Given the description of an element on the screen output the (x, y) to click on. 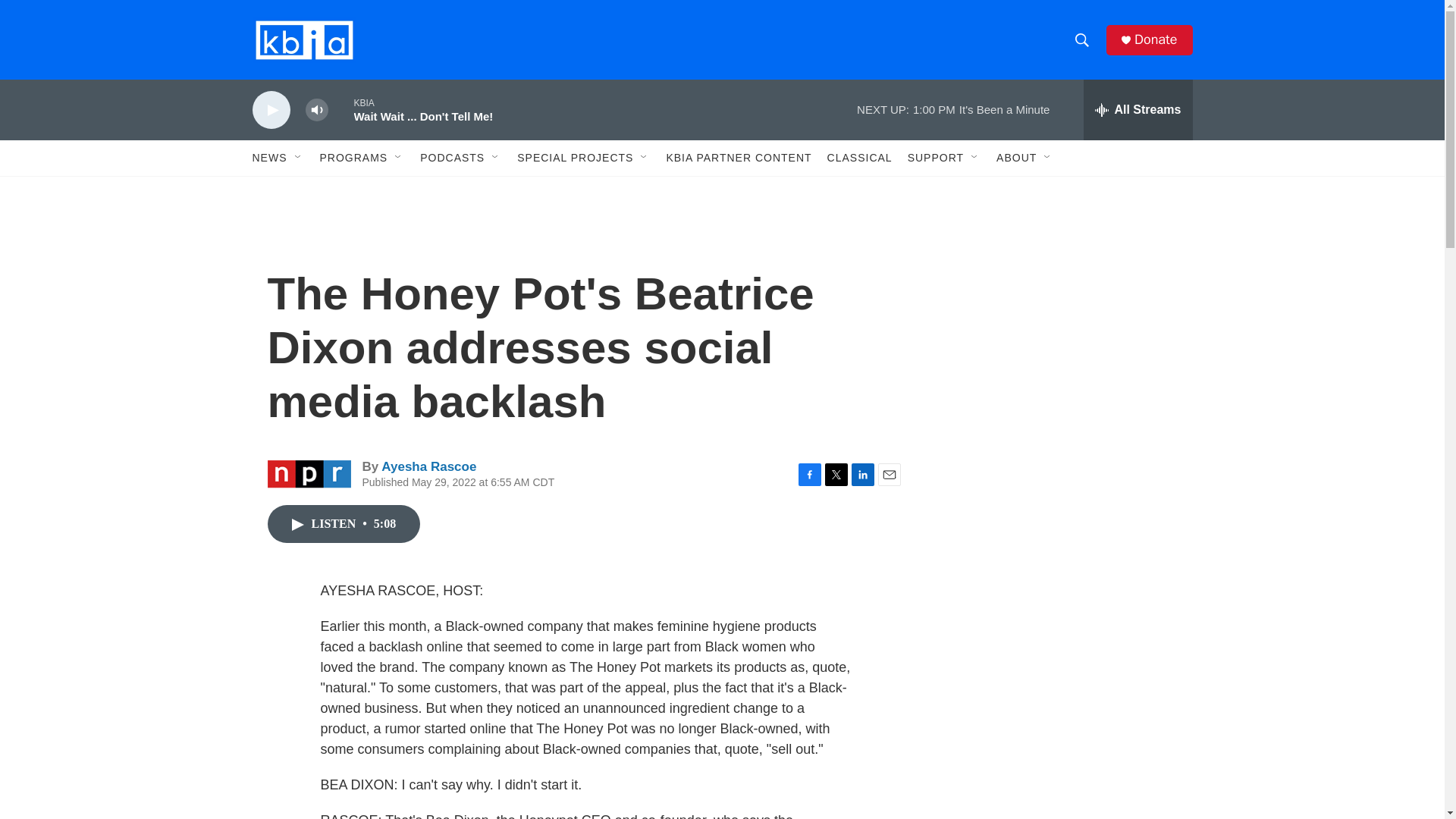
3rd party ad content (1062, 740)
3rd party ad content (1062, 316)
3rd party ad content (1062, 536)
